Given the description of an element on the screen output the (x, y) to click on. 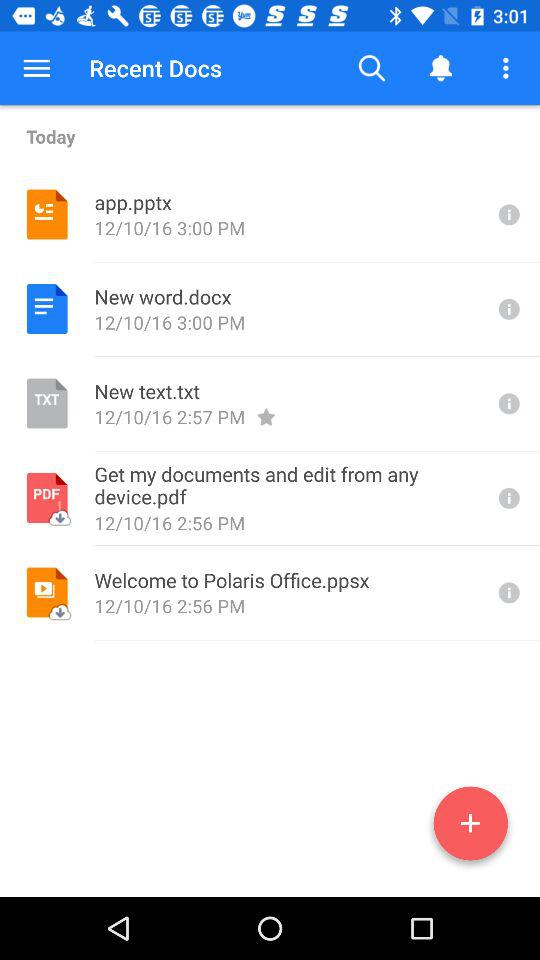
information (507, 214)
